Given the description of an element on the screen output the (x, y) to click on. 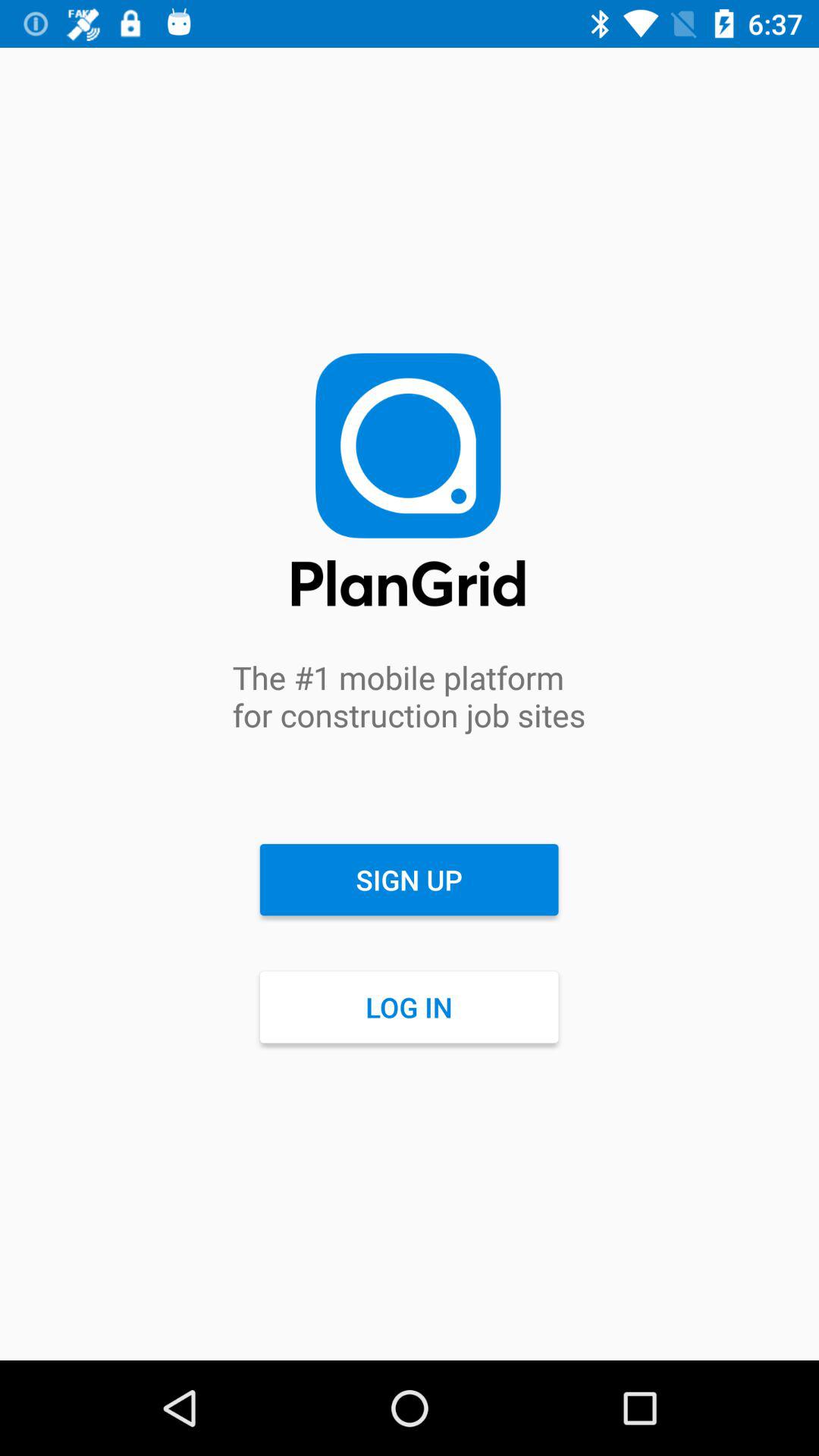
turn off the icon below sign up (408, 1007)
